Given the description of an element on the screen output the (x, y) to click on. 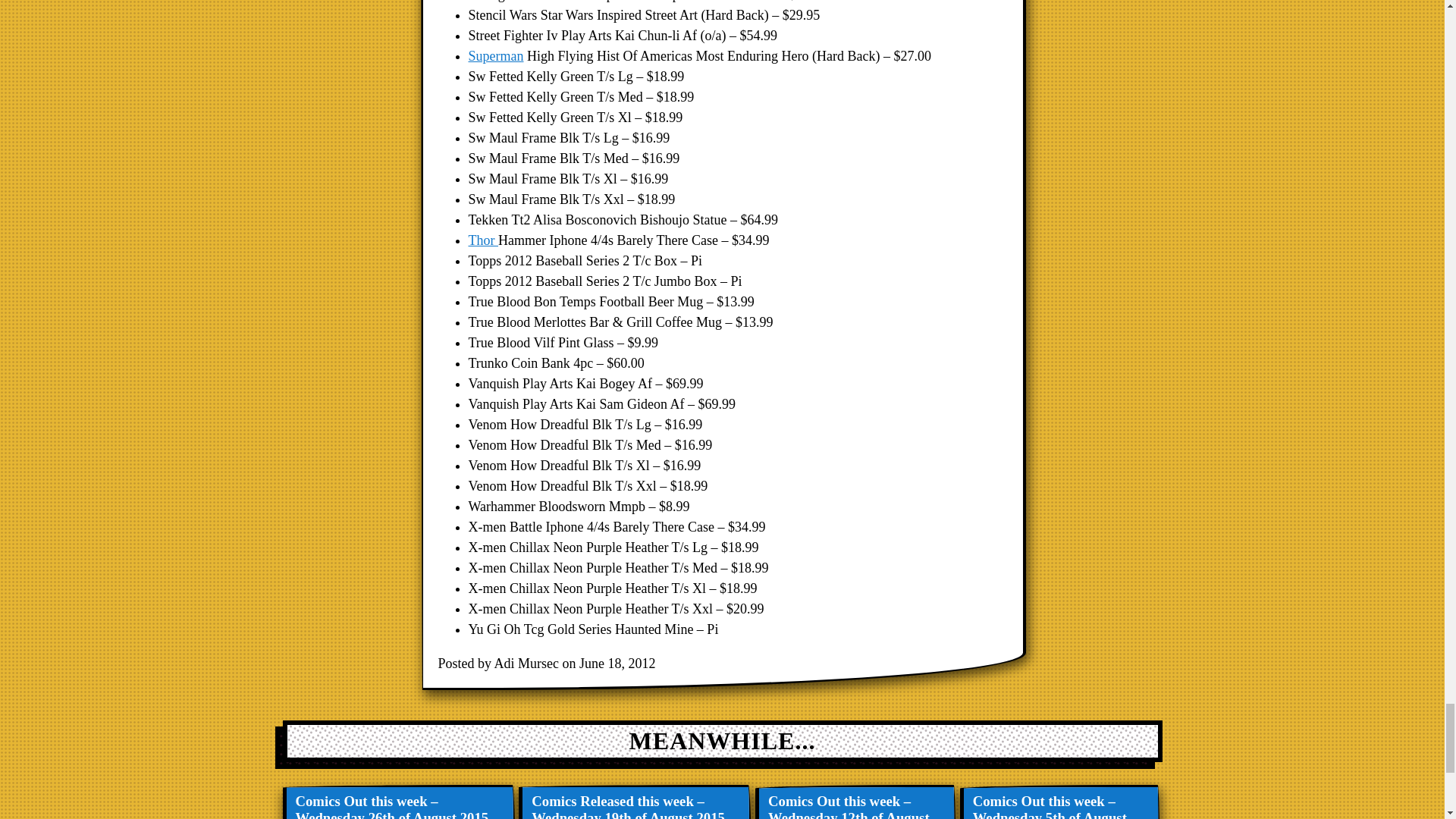
Thor (483, 240)
Comics Out this week - Wednesday 5th of August 2015 (1060, 801)
Comics Released this week - Wednesday 19th of August 2015 (635, 801)
Comics Out this week - Wednesday 26th of August 2015 (399, 801)
Superman movie (496, 55)
Superman (496, 55)
Comics Out this week - Wednesday 12th of August 2015 (856, 801)
Thor Movie (483, 240)
